Given the description of an element on the screen output the (x, y) to click on. 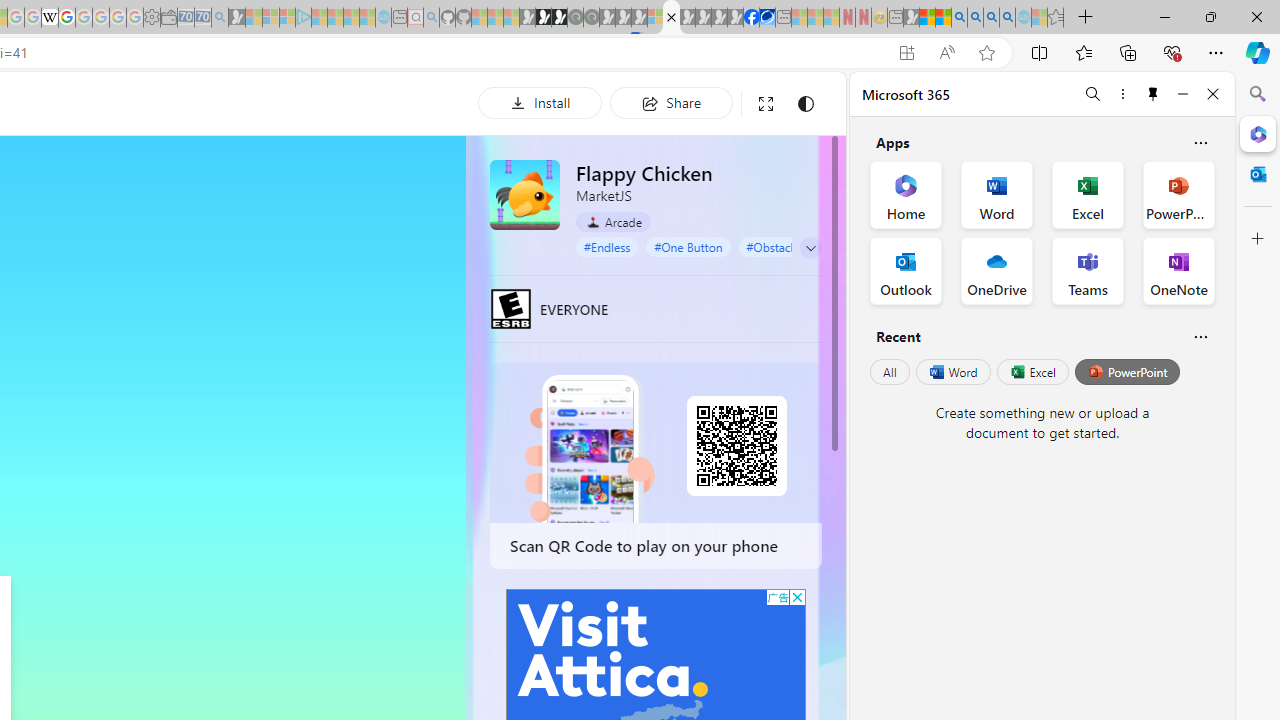
PowerPoint Office App (1178, 194)
Target page - Wikipedia (49, 17)
#One Button (688, 246)
Arcade (613, 222)
Wallet - Sleeping (168, 17)
Microsoft Start Gaming - Sleeping (236, 17)
2009 Bing officially replaced Live Search on June 3 - Search (975, 17)
